Given the description of an element on the screen output the (x, y) to click on. 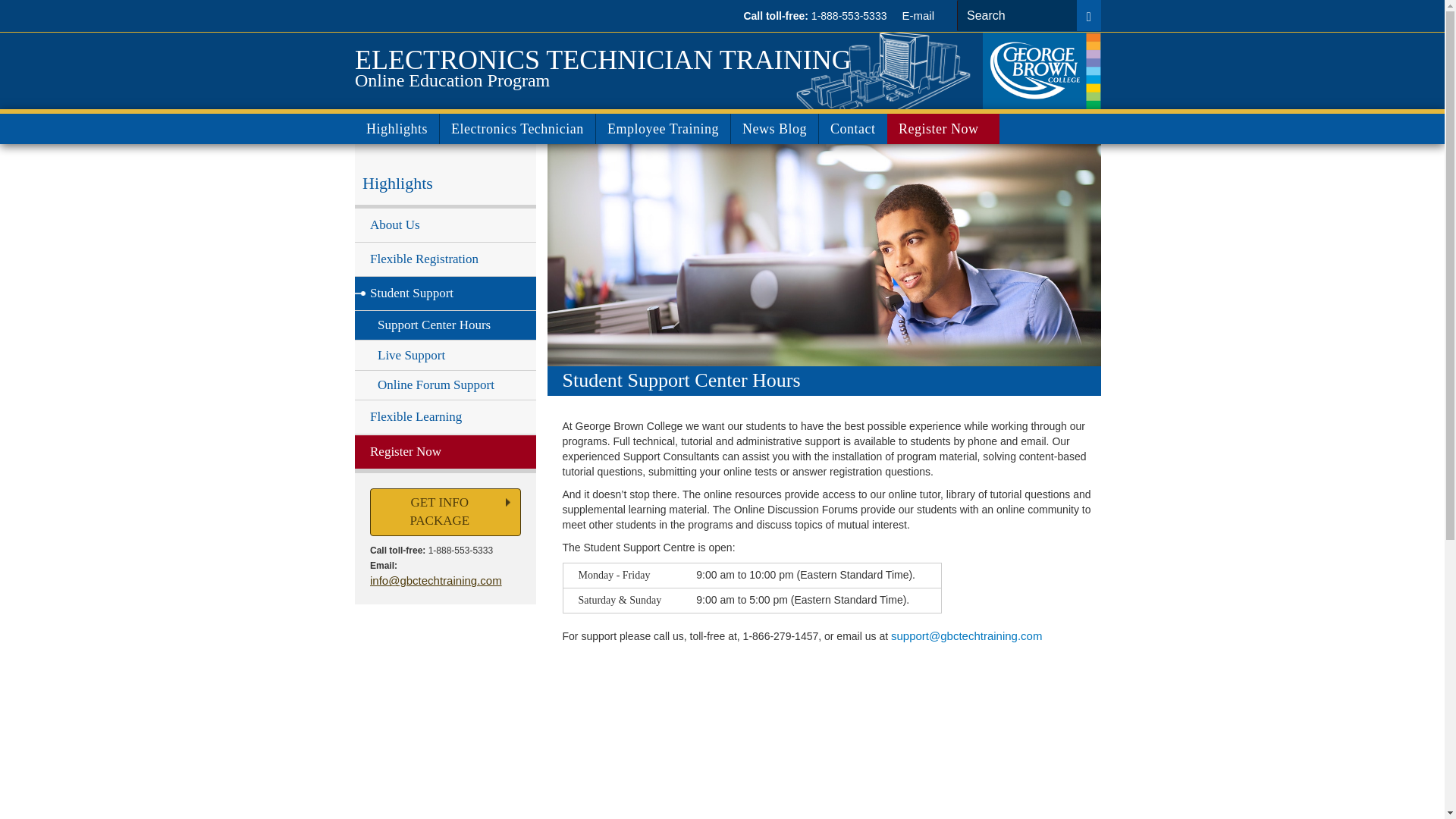
Highlights (397, 128)
Online Forum Support (445, 385)
Online Technical Training (1041, 69)
GET INFO PACKAGE (445, 512)
Flexible Learning (445, 417)
Electronics Technician (517, 128)
Contact (853, 128)
News Blog (774, 128)
Flexible Registration (445, 259)
ELECTRONICS TECHNICIAN TRAINING (603, 58)
Live Support (445, 356)
Home (603, 58)
Register Now (445, 451)
Employee Training (662, 128)
